Given the description of an element on the screen output the (x, y) to click on. 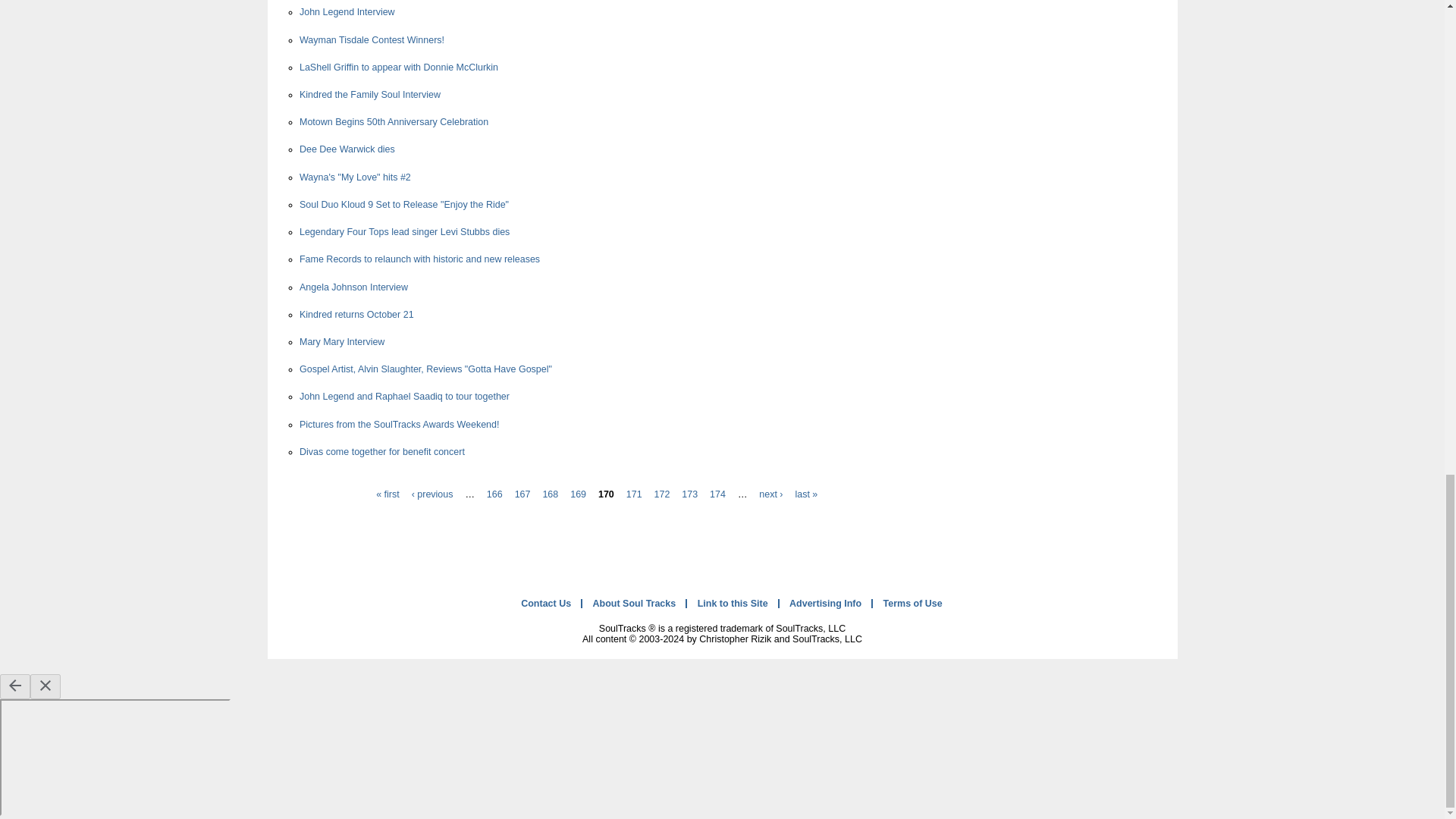
Go to page 167 (523, 493)
Go to first page (386, 493)
Go to page 171 (634, 493)
Go to page 168 (549, 493)
Go to previous page (432, 493)
Go to page 169 (578, 493)
Go to page 166 (494, 493)
